Given the description of an element on the screen output the (x, y) to click on. 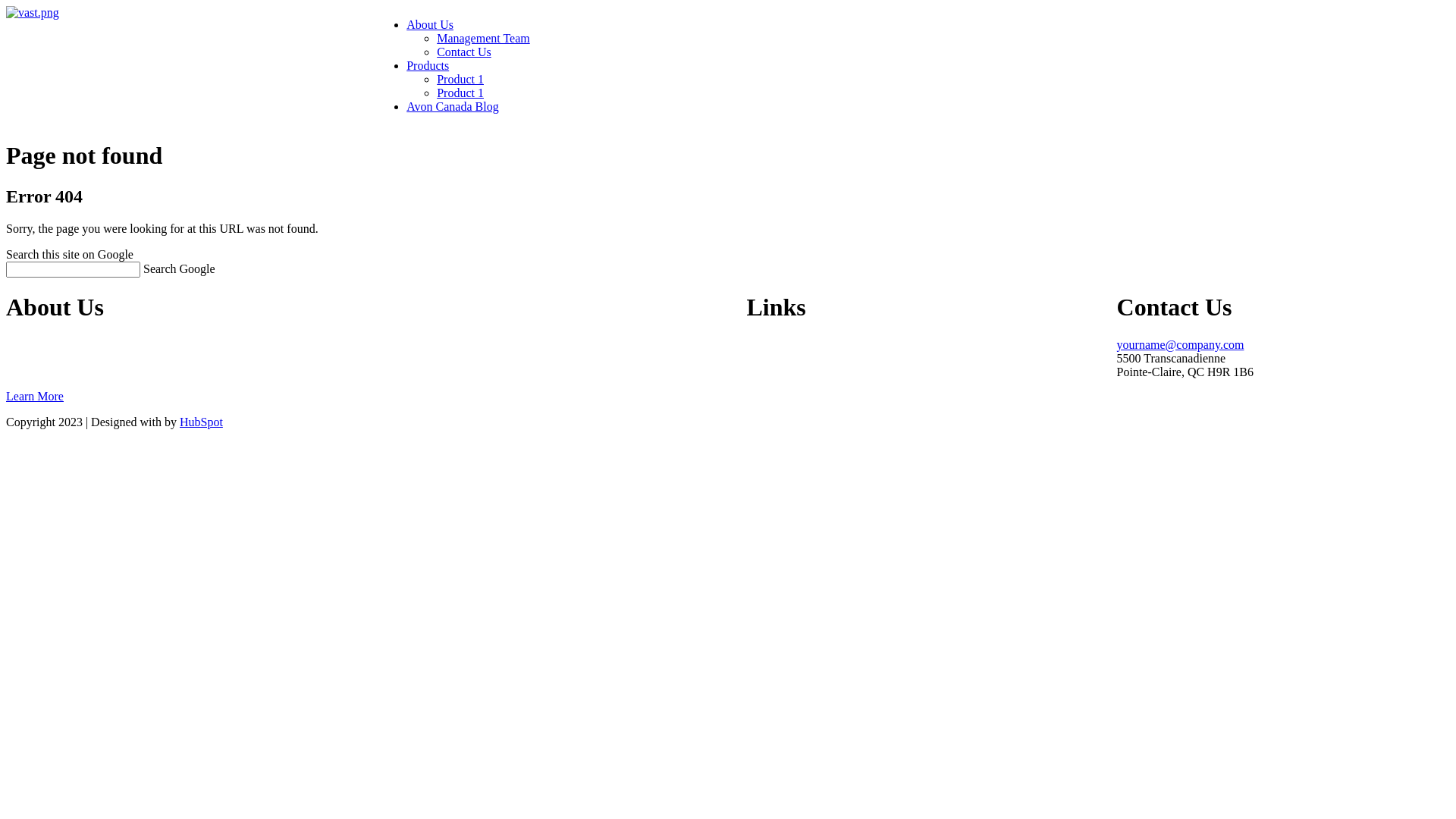
Product 1 Element type: text (459, 92)
Avon Canada Blog Element type: text (452, 106)
Learn More Element type: text (34, 395)
yourname@company.com Element type: text (1180, 344)
Products Element type: text (427, 65)
Contact Us Element type: text (463, 51)
Search Google Element type: text (179, 268)
Management Team Element type: text (483, 37)
Product 1 Element type: text (459, 78)
HubSpot Element type: text (200, 421)
vast.png Element type: hover (32, 12)
About Us Element type: text (429, 24)
